Given the description of an element on the screen output the (x, y) to click on. 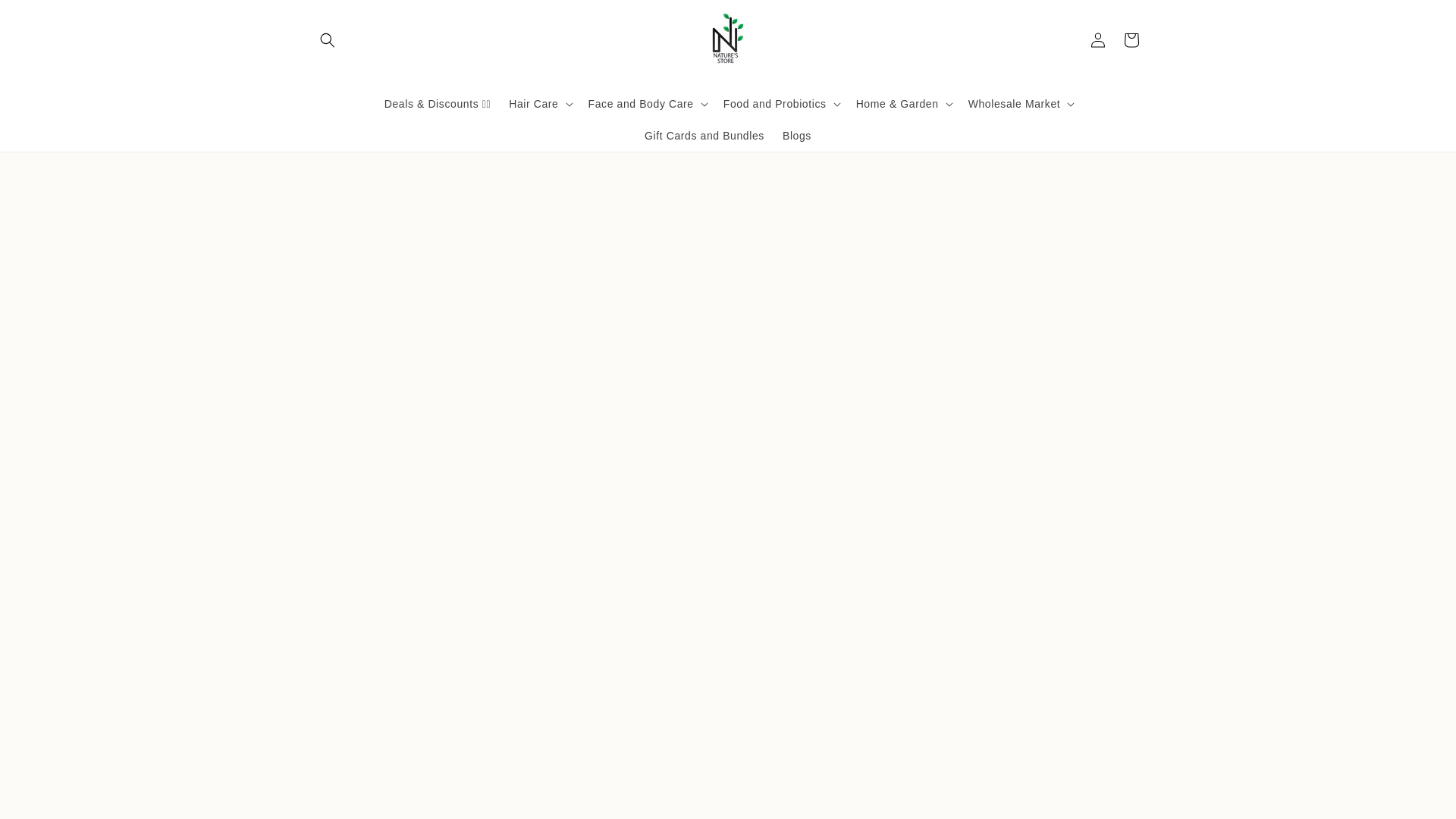
Skip to content (45, 17)
